Given the description of an element on the screen output the (x, y) to click on. 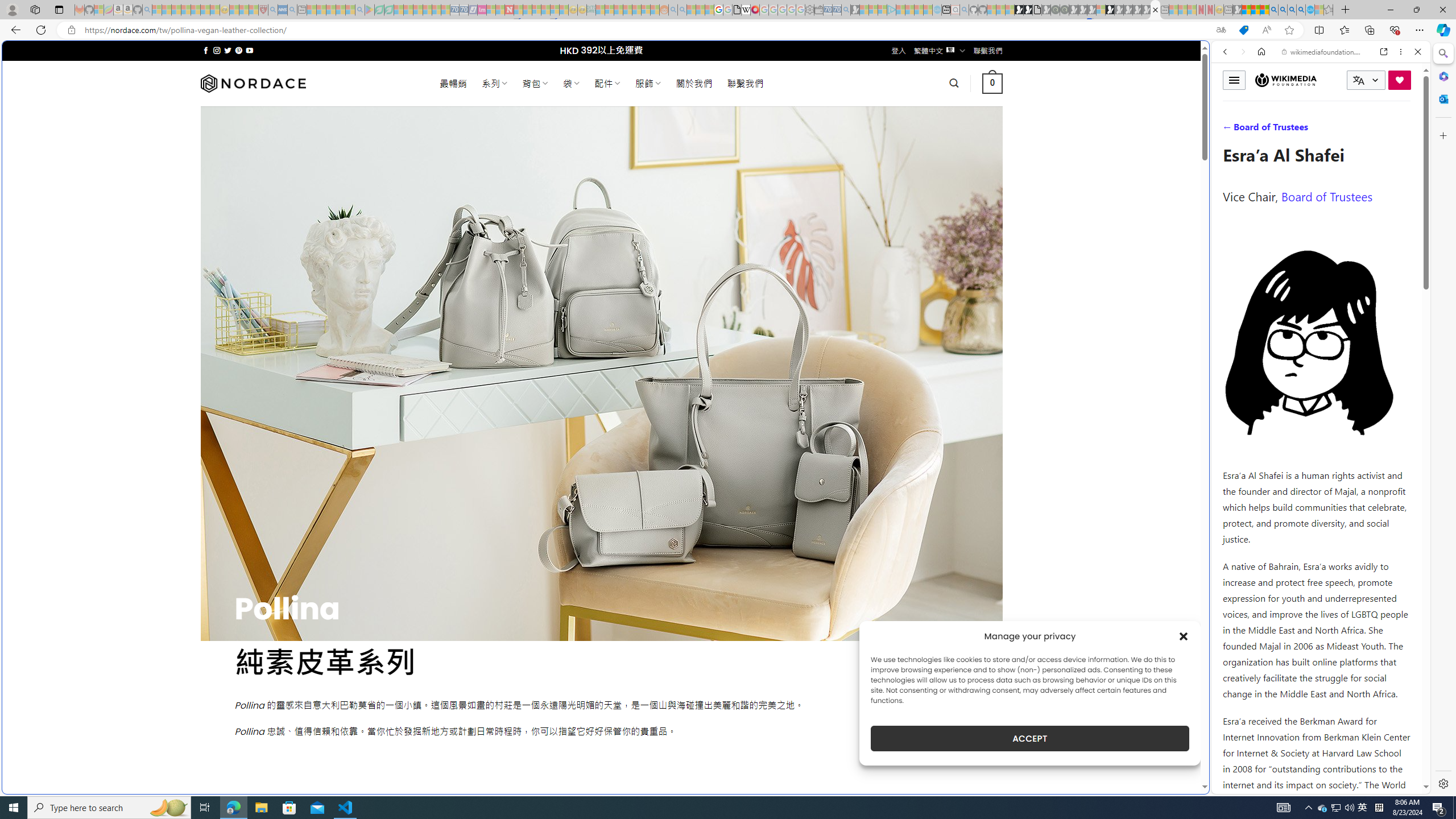
Wikimedia Foundation (1285, 79)
